Given the description of an element on the screen output the (x, y) to click on. 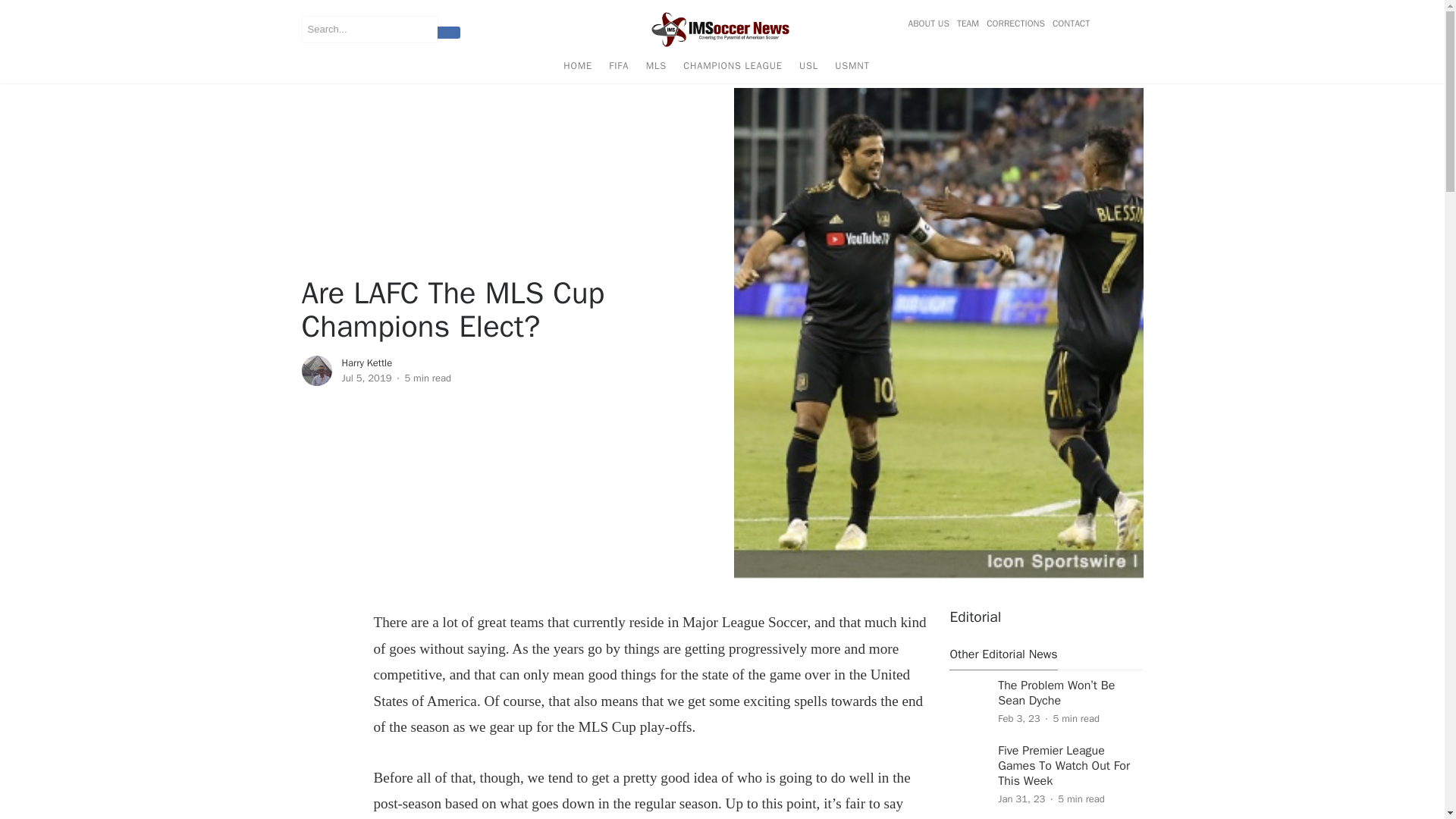
USMNT (852, 68)
Five Premier League Games To Watch Out For This Week (1063, 765)
FIFA (618, 68)
CHAMPIONS LEAGUE (732, 68)
CORRECTIONS (1015, 23)
Search for: (369, 29)
HOME (576, 68)
Harry Kettle (365, 362)
MLS (656, 68)
CONTACT (1068, 23)
USL (808, 68)
ABOUT US (929, 23)
TEAM (967, 23)
